Given the description of an element on the screen output the (x, y) to click on. 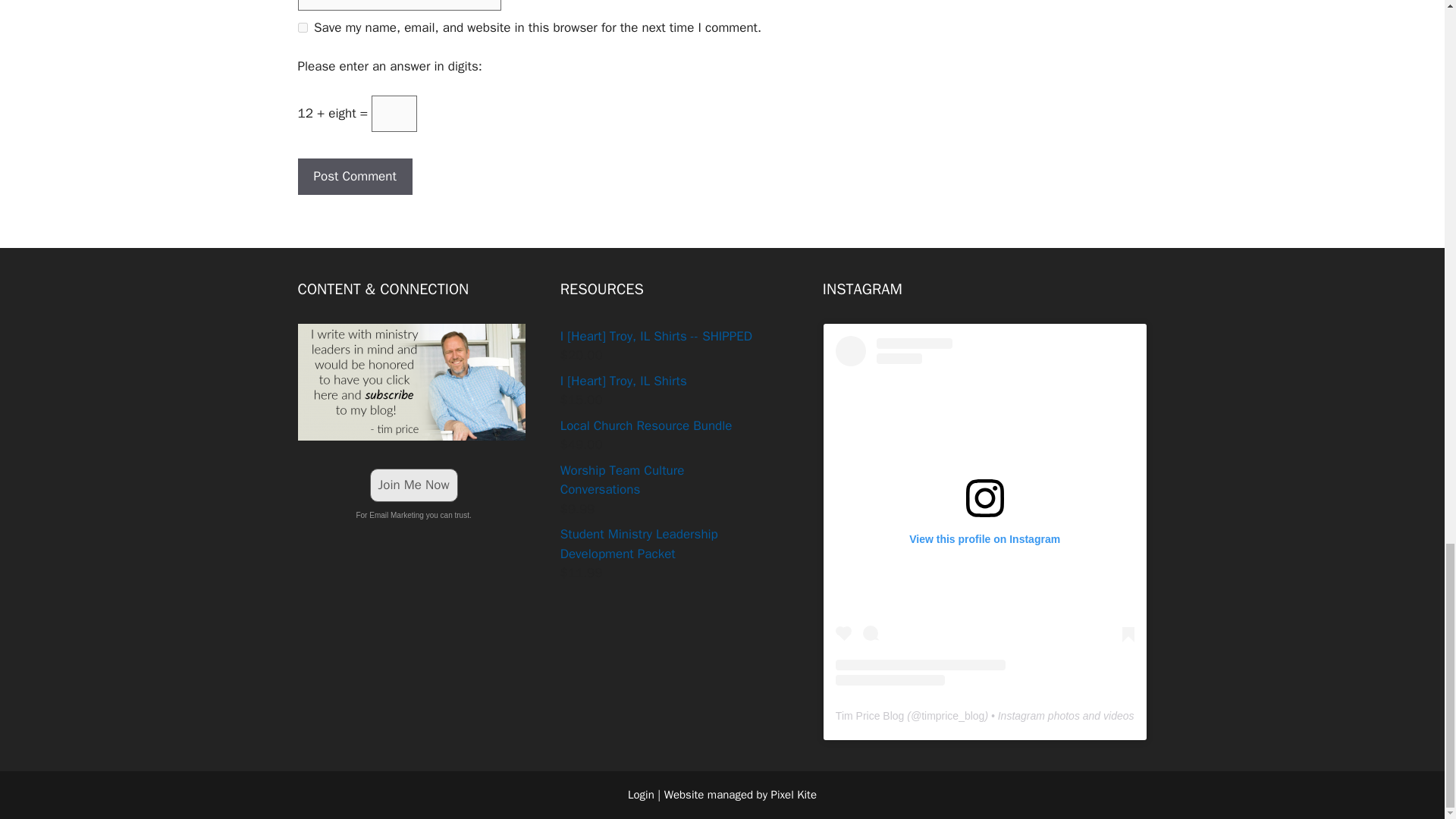
yes (302, 27)
Post Comment (354, 176)
Post Comment (354, 176)
